Given the description of an element on the screen output the (x, y) to click on. 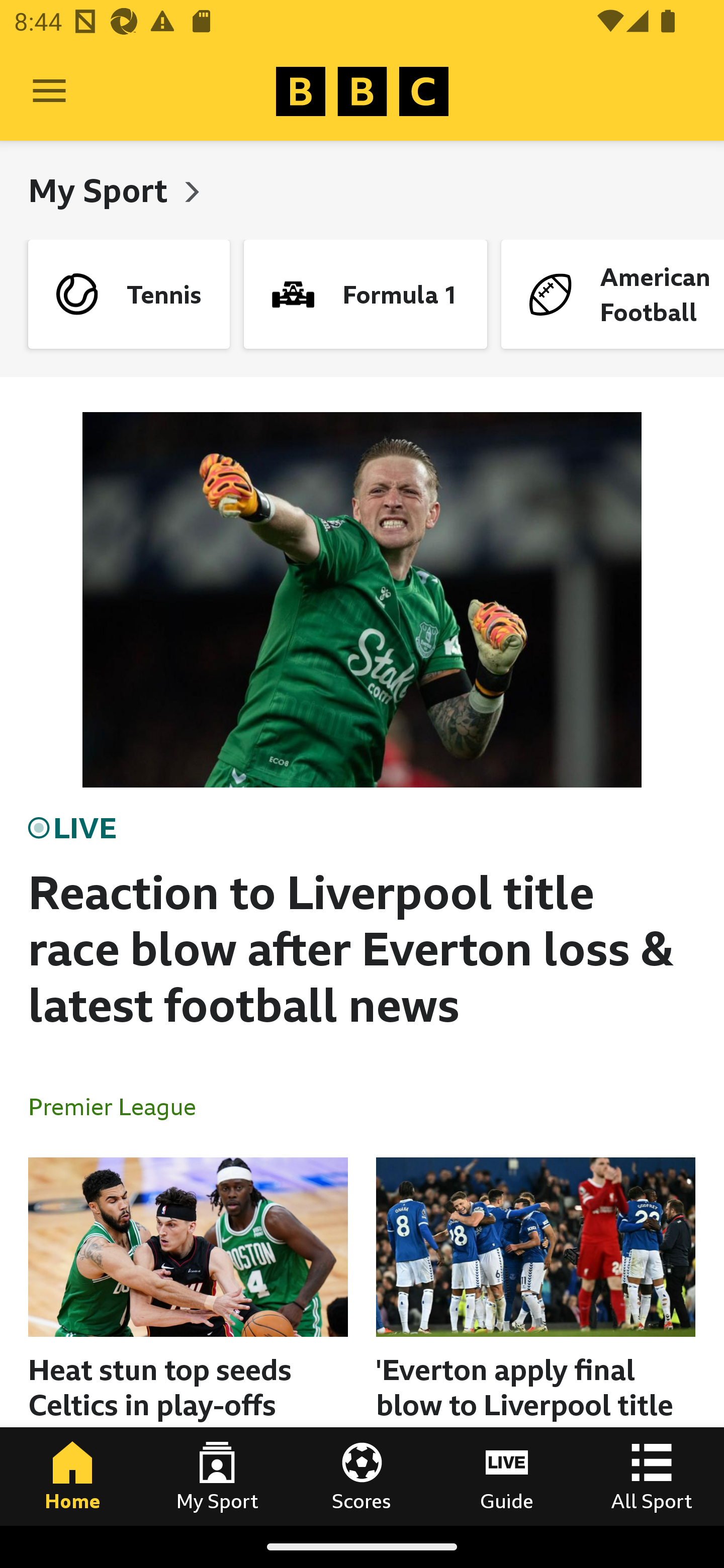
Open Menu (49, 91)
My Sport (101, 190)
Premier League In the section Premier League (119, 1106)
My Sport (216, 1475)
Scores (361, 1475)
Guide (506, 1475)
All Sport (651, 1475)
